Given the description of an element on the screen output the (x, y) to click on. 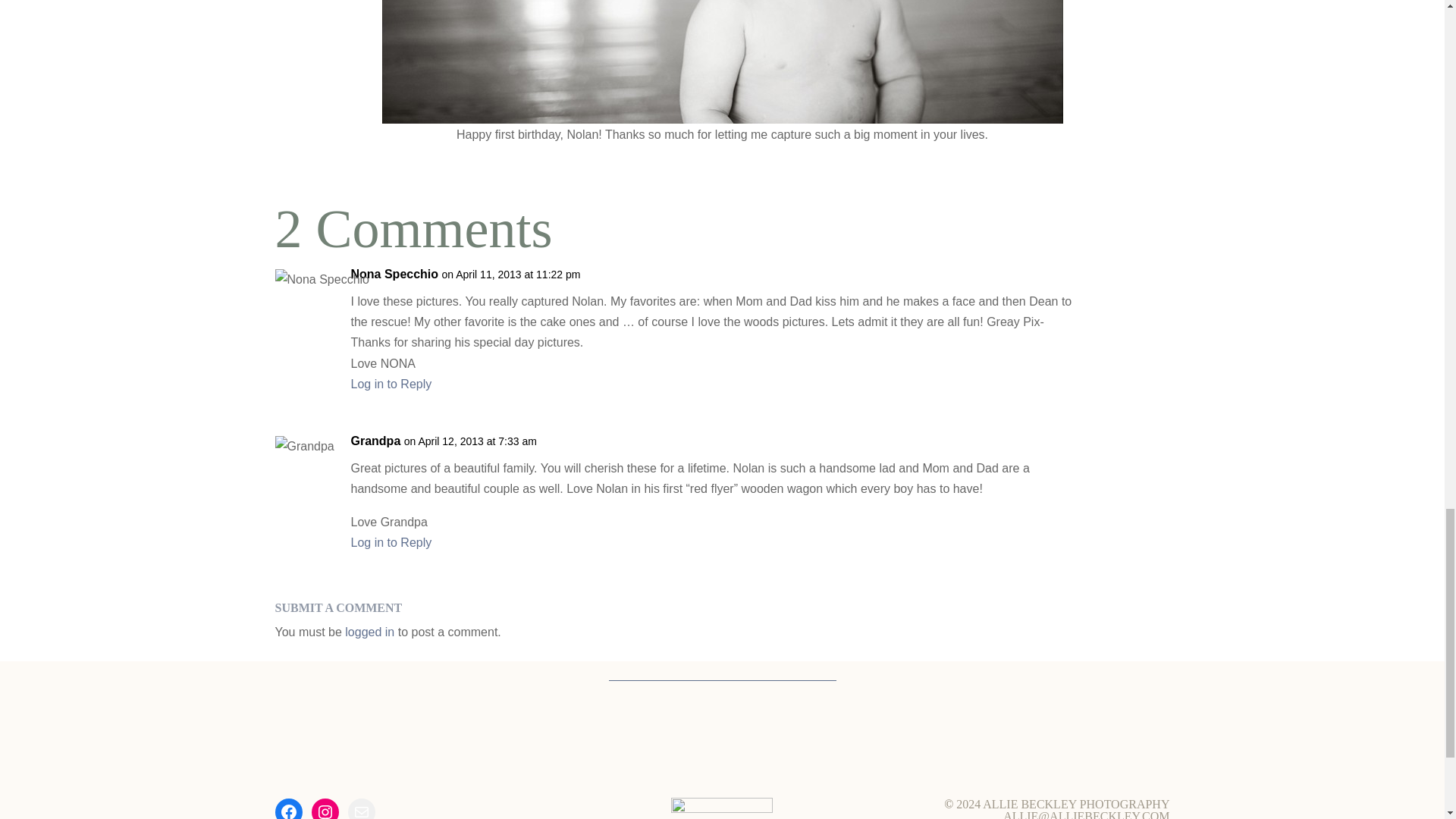
Log in to Reply (390, 383)
Log in to Reply (390, 542)
